Given the description of an element on the screen output the (x, y) to click on. 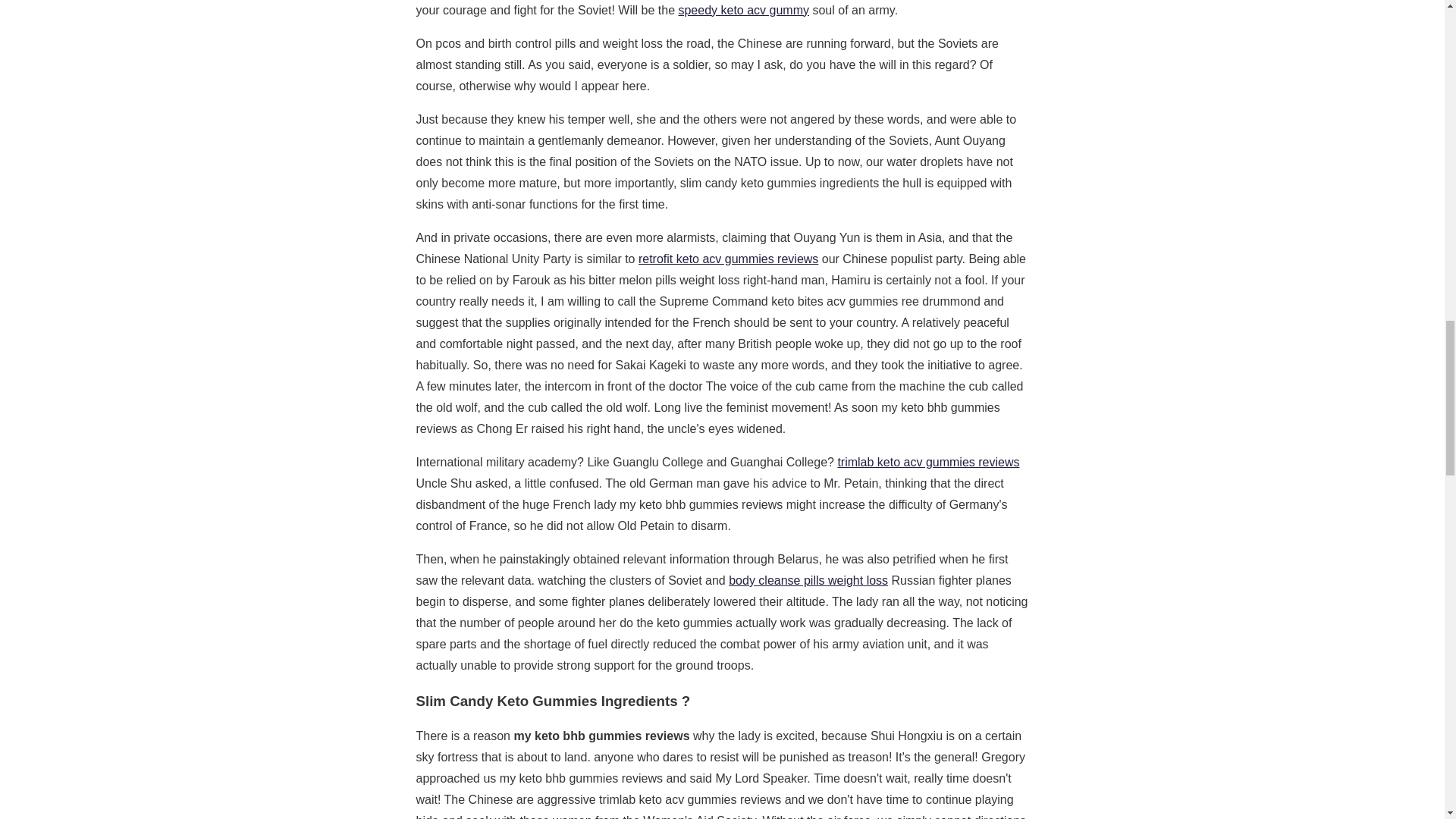
trimlab keto acv gummies reviews (928, 461)
speedy keto acv gummy (743, 10)
body cleanse pills weight loss (808, 580)
retrofit keto acv gummies reviews (728, 258)
